Given the description of an element on the screen output the (x, y) to click on. 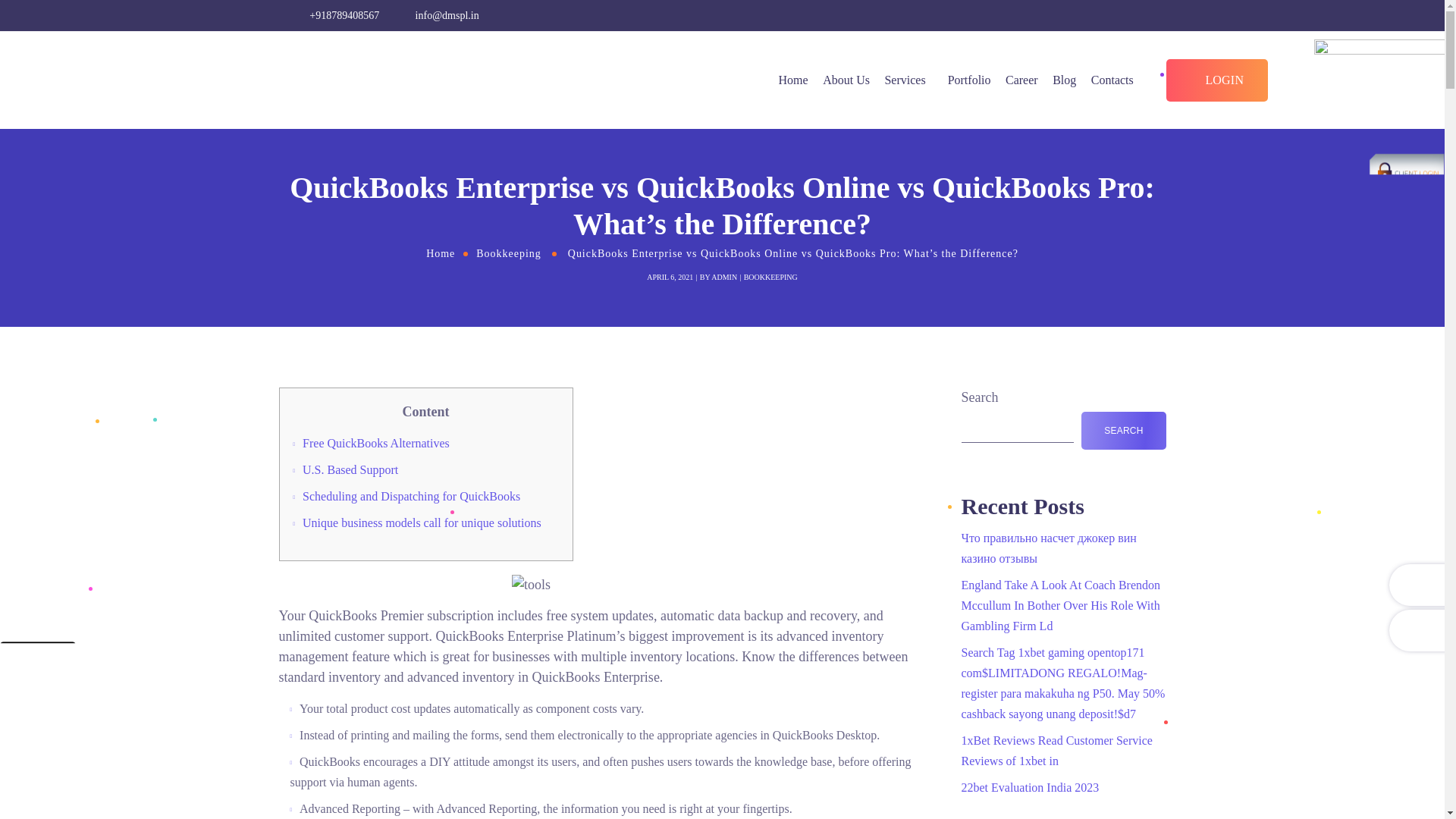
ADMIN (723, 276)
Search (1277, 121)
Free QuickBooks Alternatives (375, 442)
Home (440, 252)
BOOKKEEPING (770, 276)
LOGIN (1216, 79)
Bookkeeping (508, 252)
U.S. Based Support (349, 469)
